Given the description of an element on the screen output the (x, y) to click on. 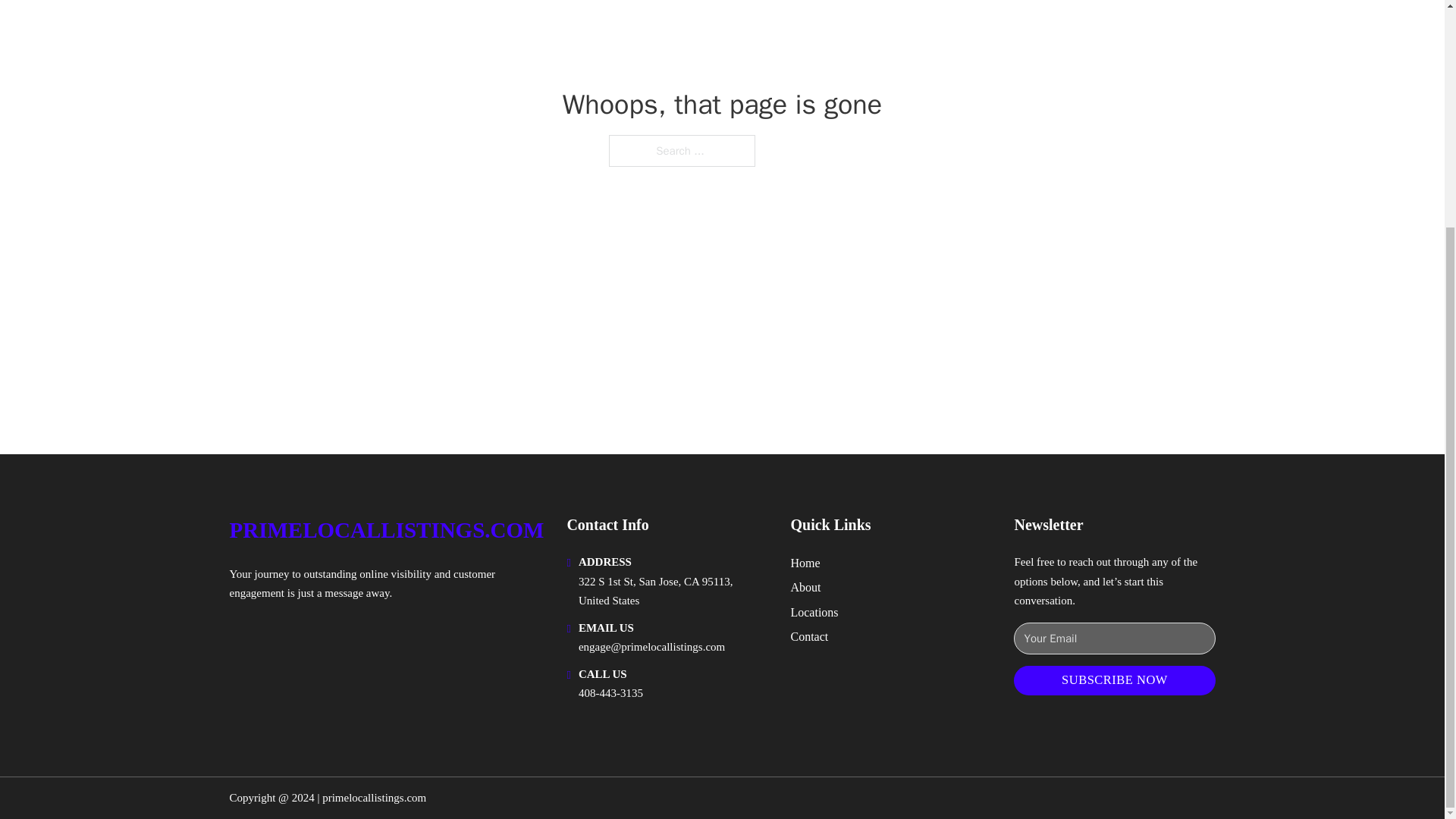
About (805, 587)
PRIMELOCALLISTINGS.COM (385, 529)
Locations (814, 611)
SUBSCRIBE NOW (1113, 680)
Home (804, 562)
Contact (809, 636)
408-443-3135 (610, 693)
